Given the description of an element on the screen output the (x, y) to click on. 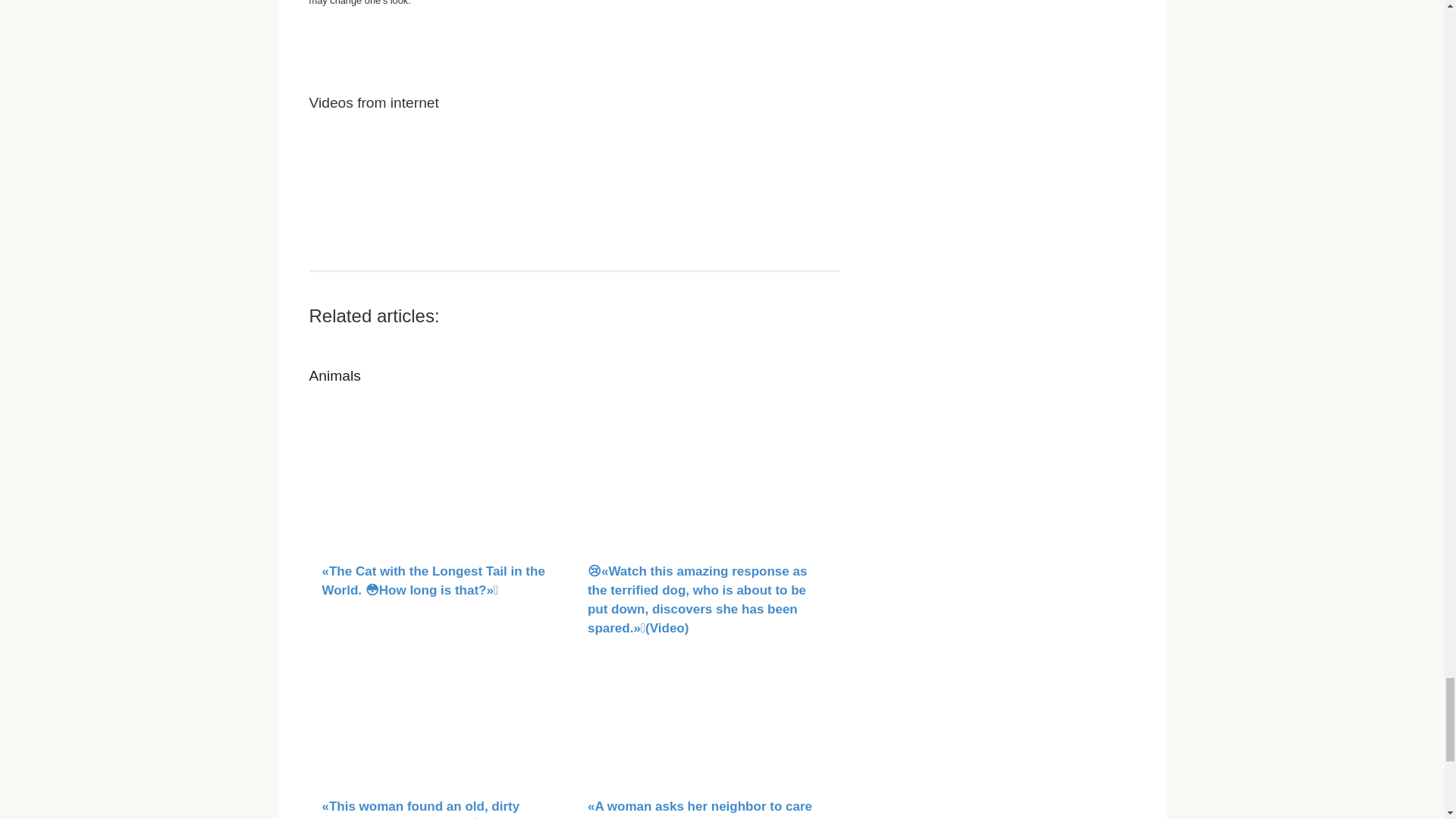
Animals (334, 375)
